Given the description of an element on the screen output the (x, y) to click on. 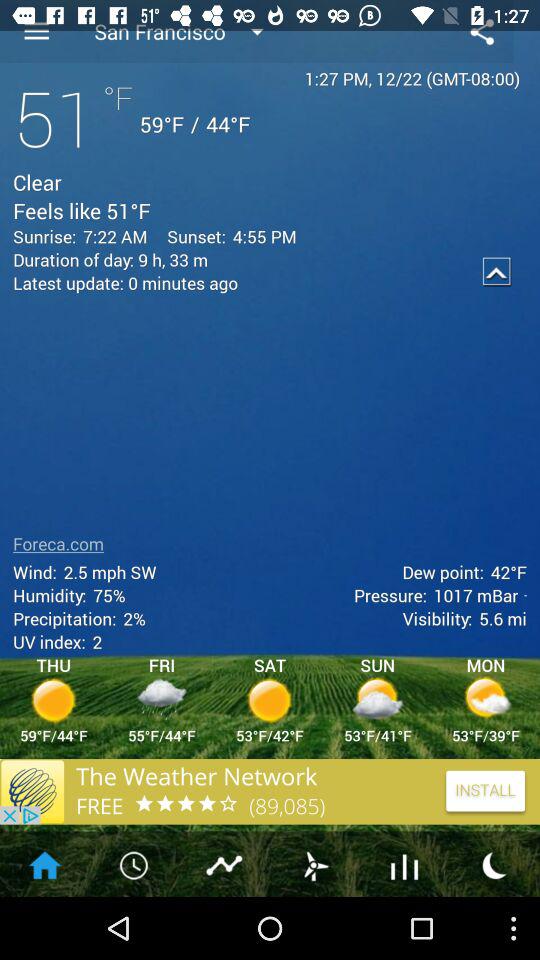
click on the option that is beside the moon icon (404, 864)
click on the second option at the bottom left of the page (134, 864)
